Given the description of an element on the screen output the (x, y) to click on. 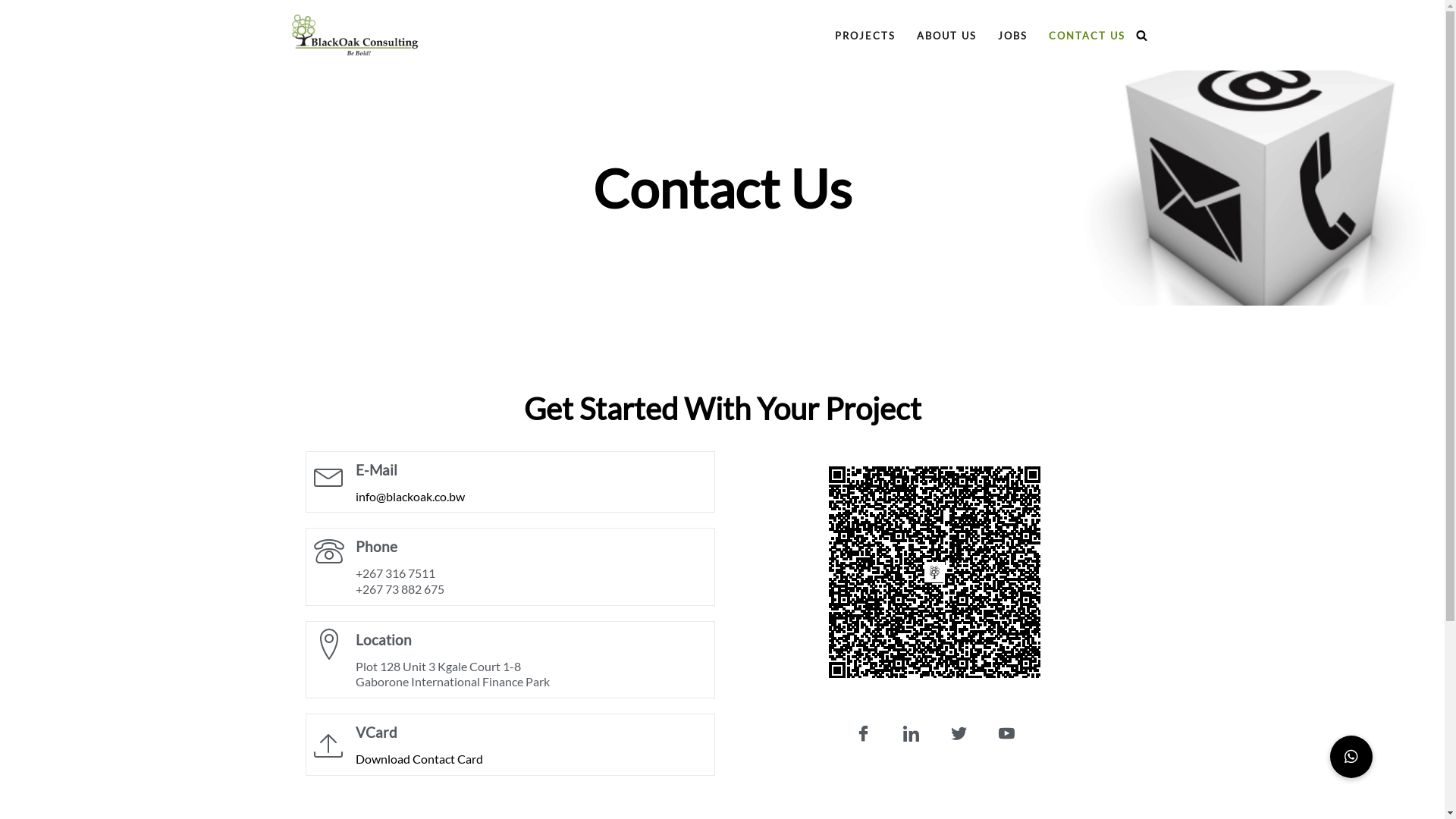
PROJECTS Element type: text (864, 34)
ABOUT US Element type: text (945, 34)
info@blackoak.co.bw Element type: text (409, 496)
Skip to content Element type: text (11, 31)
JOBS Element type: text (1012, 34)
CONTACT US Element type: text (1086, 34)
Download Contact Card Element type: text (418, 758)
